Given the description of an element on the screen output the (x, y) to click on. 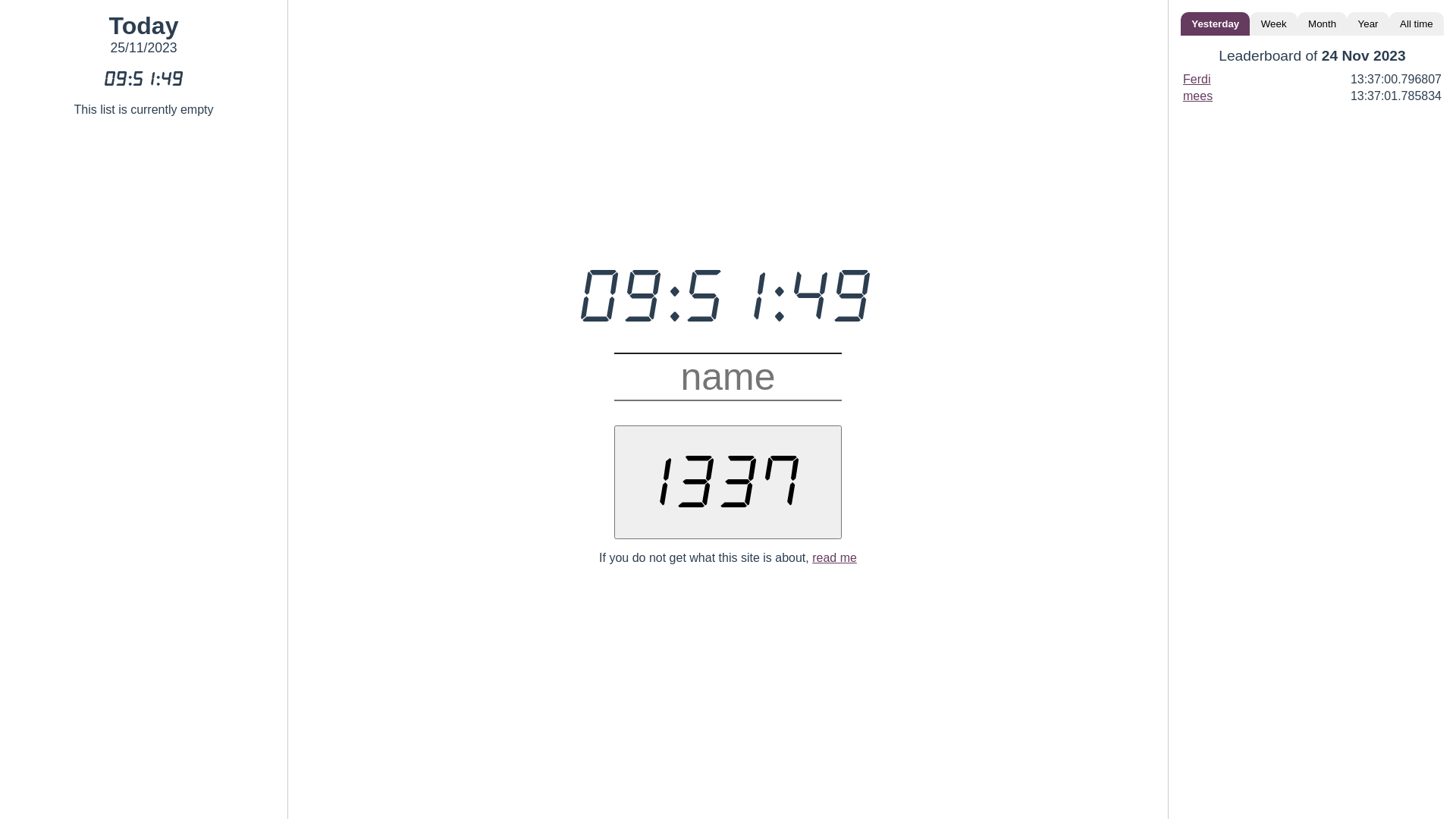
Week Element type: text (1272, 23)
Year Element type: text (1367, 23)
1337 Element type: text (727, 481)
Ferdi Element type: text (1196, 78)
read me Element type: text (834, 556)
All time Element type: text (1416, 23)
Yesterday Element type: text (1214, 23)
Month Element type: text (1322, 23)
mees Element type: text (1197, 95)
